Given the description of an element on the screen output the (x, y) to click on. 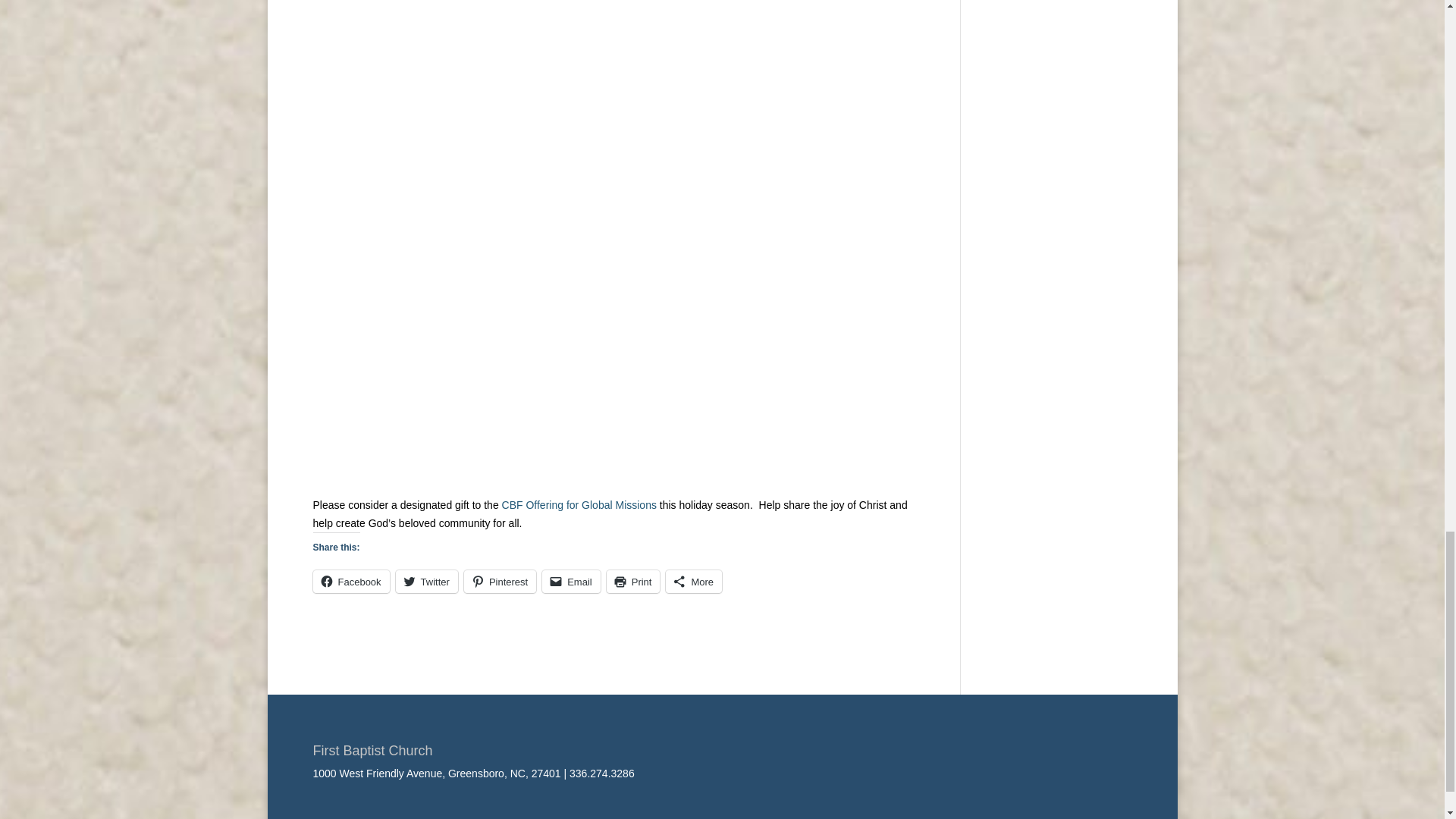
Click to share on Pinterest (499, 581)
Click to print (634, 581)
Click to share on Facebook (350, 581)
Click to email a link to a friend (570, 581)
Click to share on Twitter (427, 581)
